Given the description of an element on the screen output the (x, y) to click on. 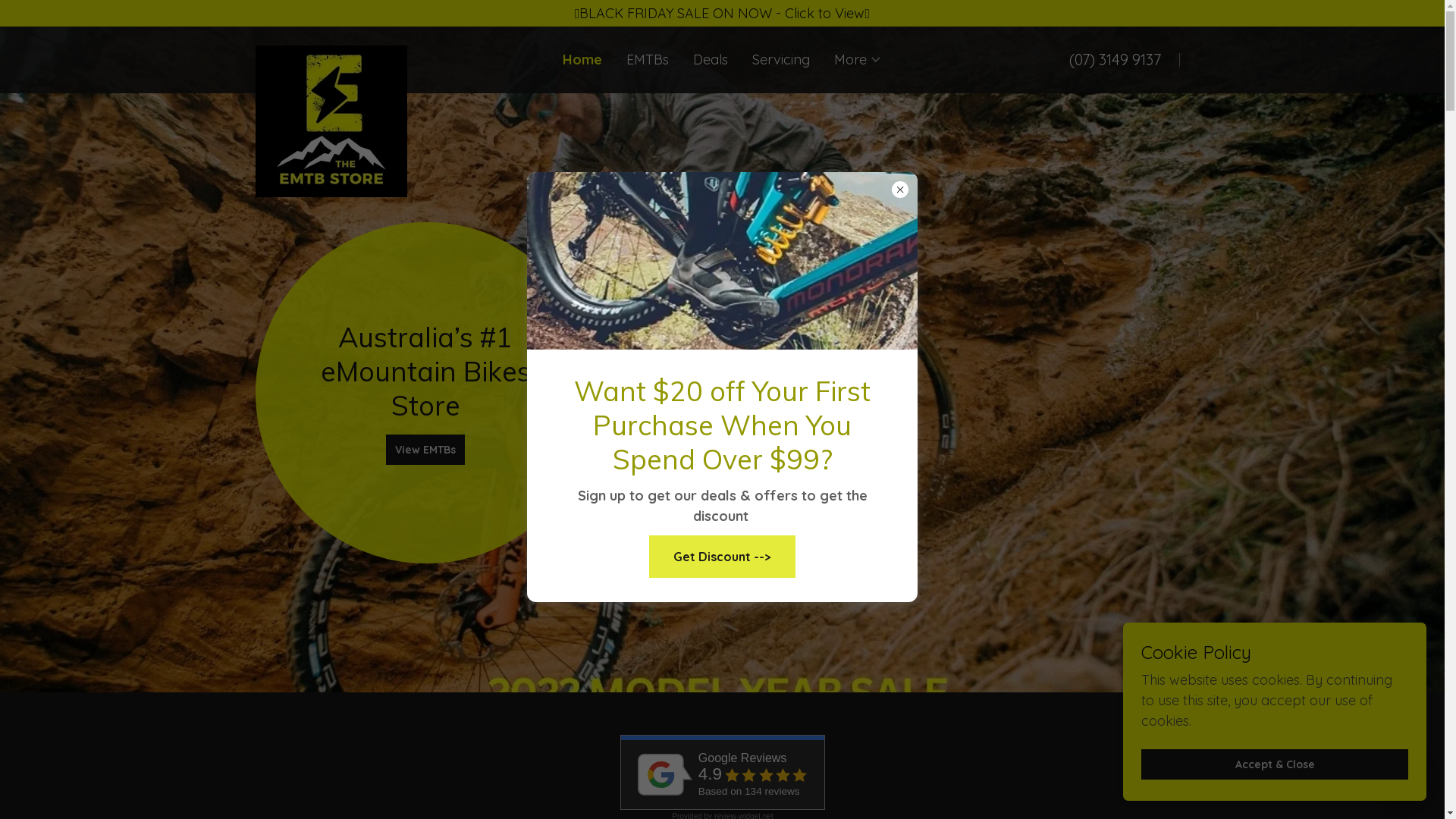
Get Discount --> Element type: text (722, 556)
EMTBs Element type: text (647, 59)
Servicing Element type: text (780, 59)
Deals Element type: text (710, 59)
(07) 3149 9137 Element type: text (1115, 59)
Accept & Close Element type: text (1274, 764)
View EMTBs Element type: text (424, 449)
More Element type: text (857, 59)
Home Element type: text (582, 59)
